Given the description of an element on the screen output the (x, y) to click on. 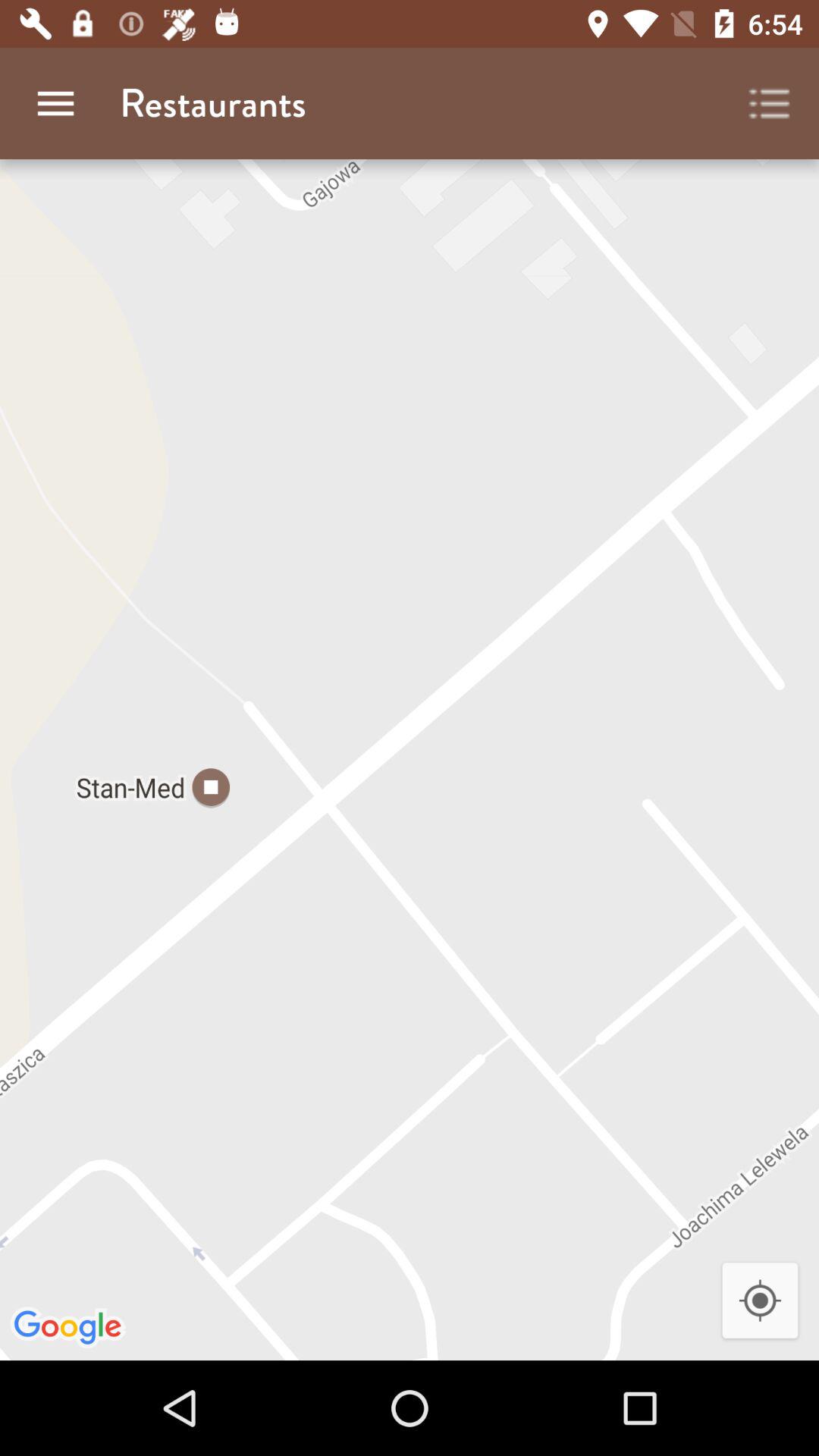
choose icon at the bottom right corner (759, 1301)
